Given the description of an element on the screen output the (x, y) to click on. 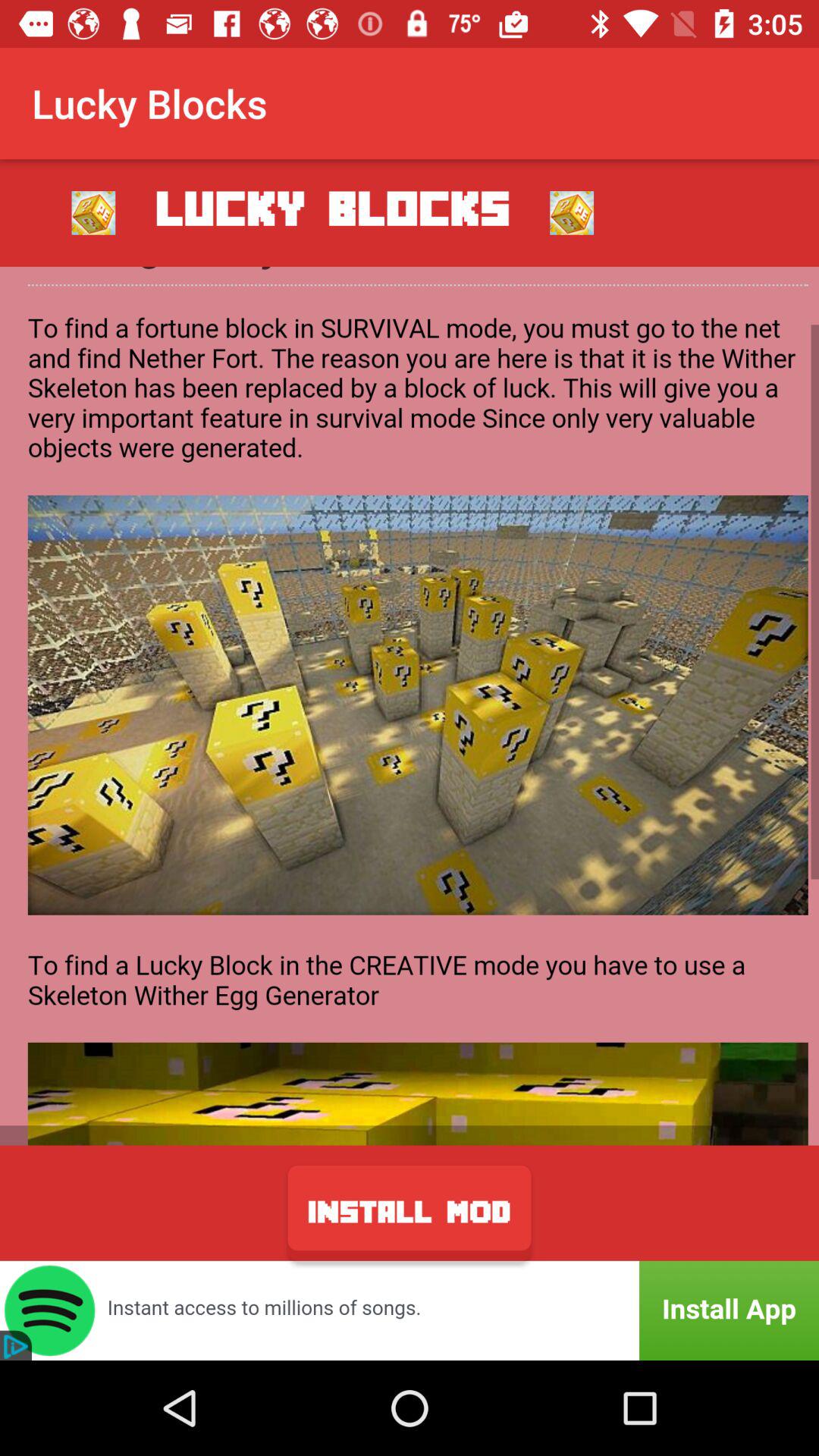
advertisement (409, 1310)
